Given the description of an element on the screen output the (x, y) to click on. 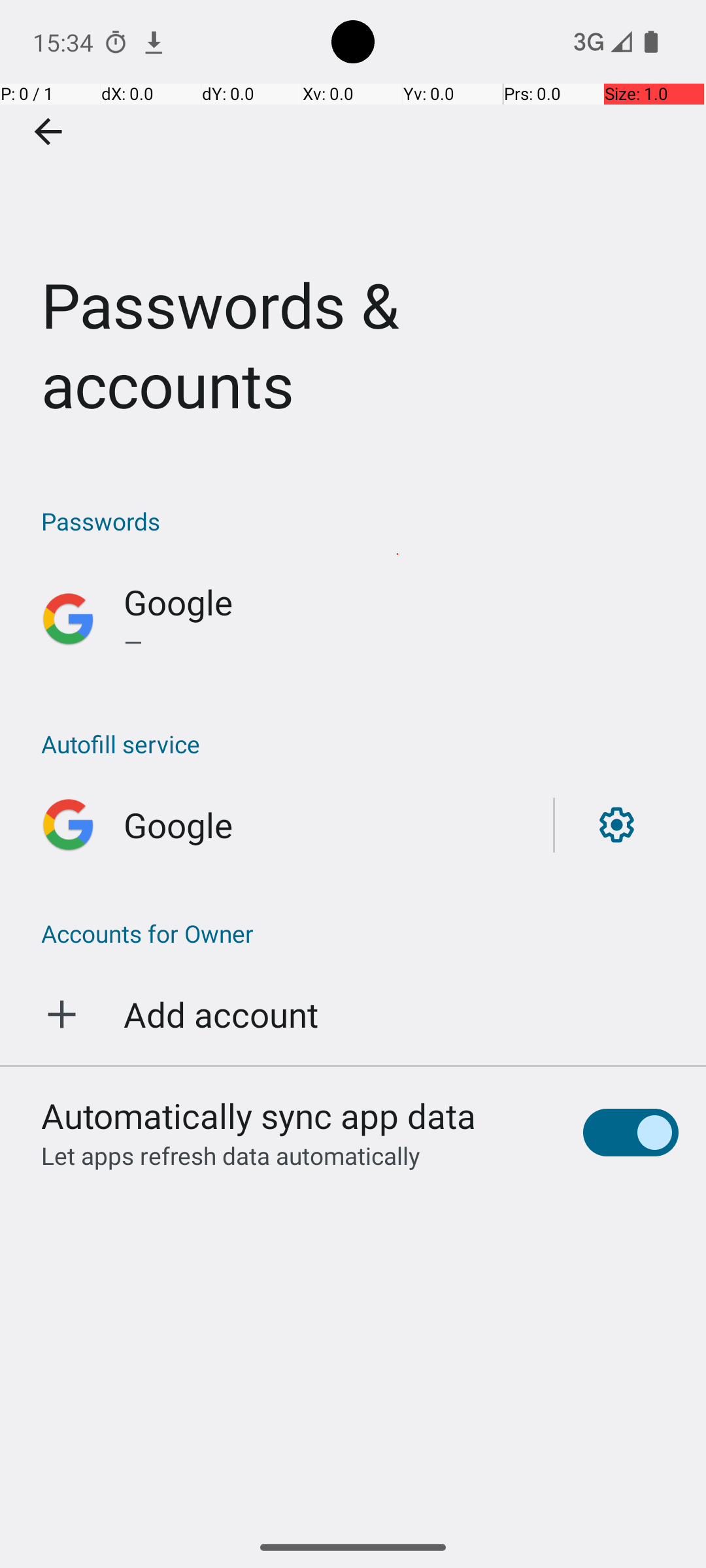
Passwords & accounts Element type: android.widget.FrameLayout (353, 231)
Accounts for Owner Element type: android.widget.LinearLayout (353, 932)
Passwords Element type: android.widget.TextView (359, 520)
— Element type: android.widget.TextView (400, 641)
Autofill service Element type: android.widget.TextView (359, 743)
Automatically sync app data Element type: android.widget.TextView (258, 1115)
Let apps refresh data automatically Element type: android.widget.TextView (230, 1155)
Chrome notification: m.youtube.com Element type: android.widget.ImageView (153, 41)
